Given the description of an element on the screen output the (x, y) to click on. 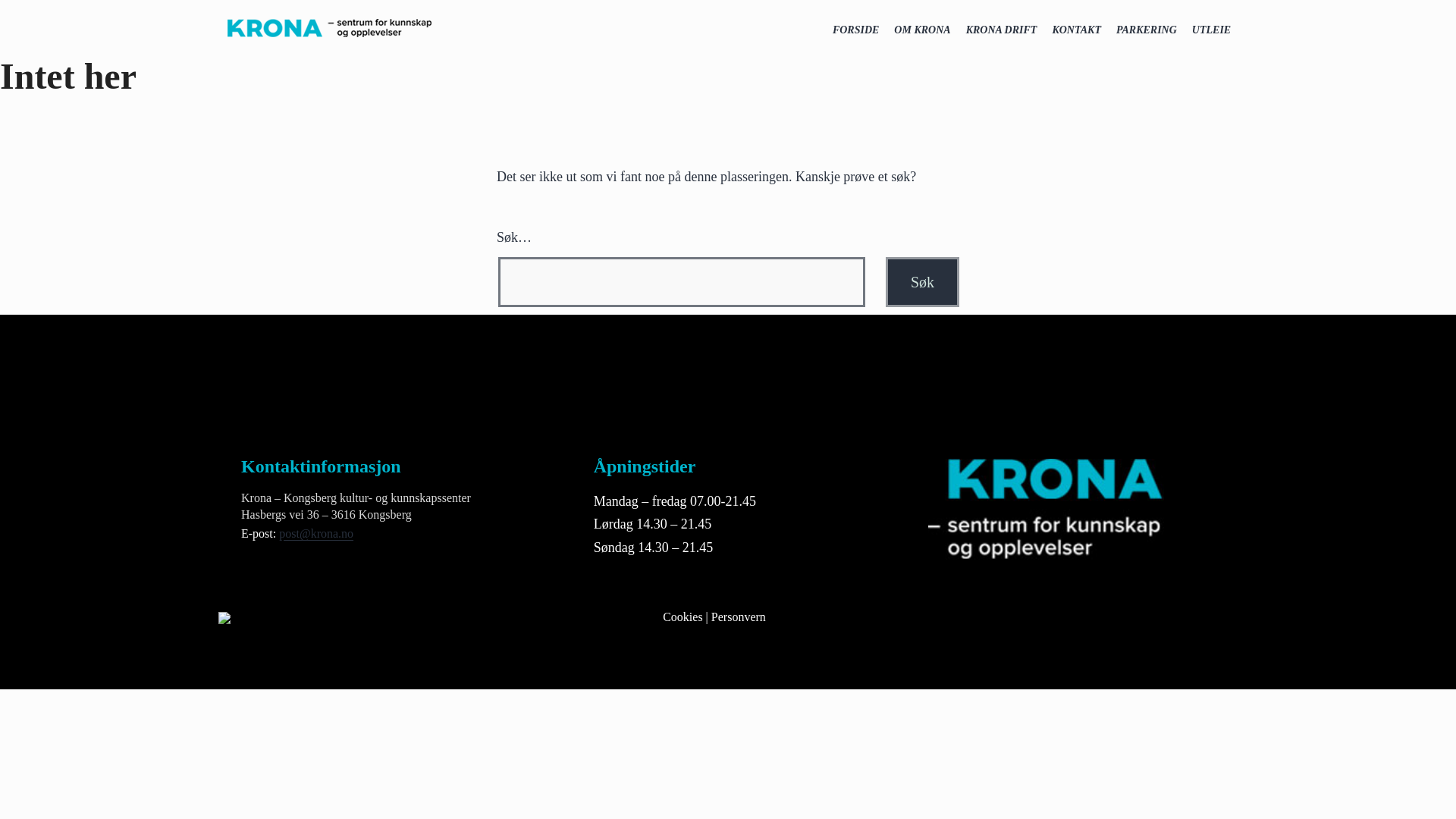
Personvern (738, 616)
KRONA DRIFT (1001, 29)
KONTAKT (1075, 29)
UTLEIE (1212, 29)
FORSIDE (855, 29)
PARKERING (1146, 29)
OM KRONA (922, 29)
